Given the description of an element on the screen output the (x, y) to click on. 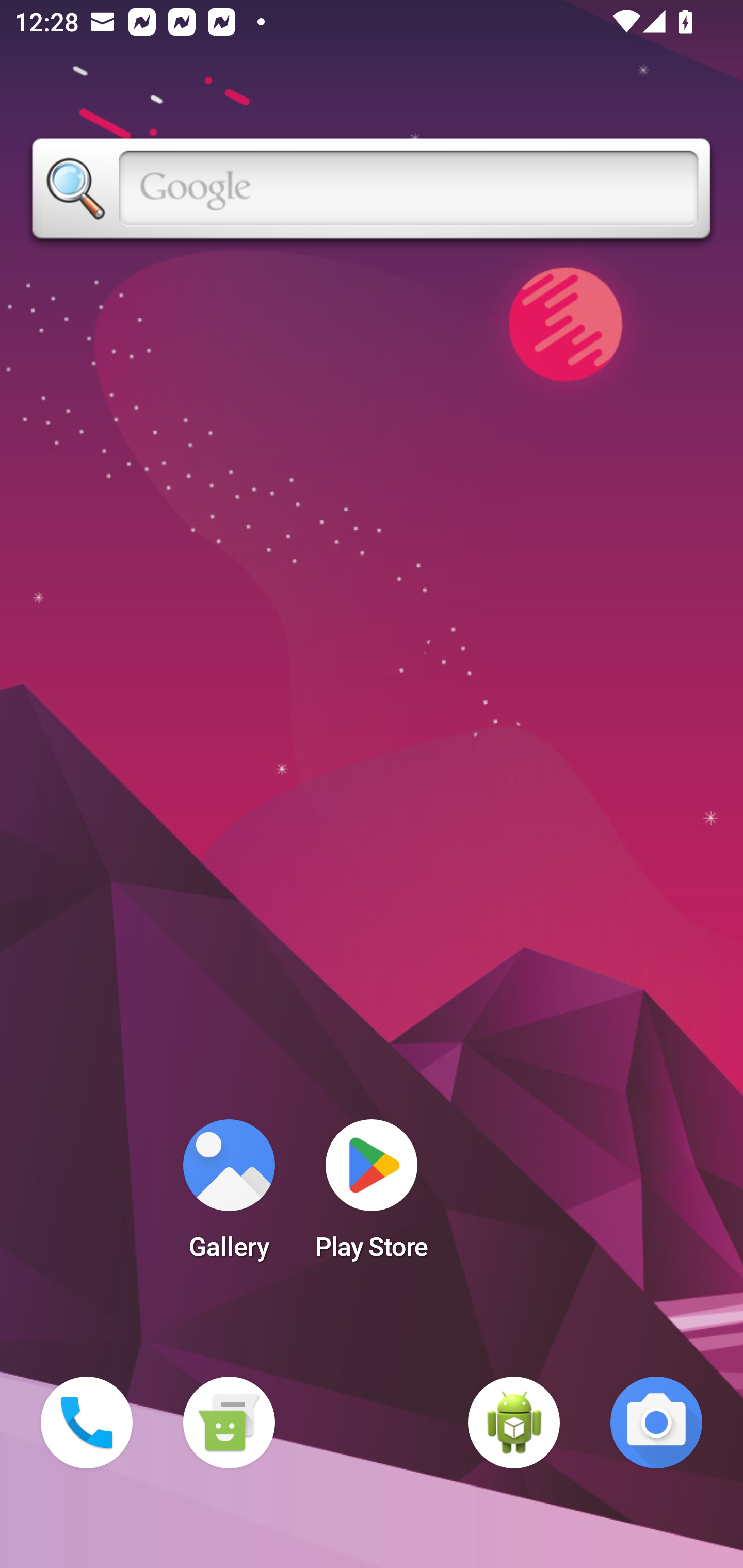
Gallery (228, 1195)
Play Store (371, 1195)
Phone (86, 1422)
Messaging (228, 1422)
WebView Browser Tester (513, 1422)
Camera (656, 1422)
